Given the description of an element on the screen output the (x, y) to click on. 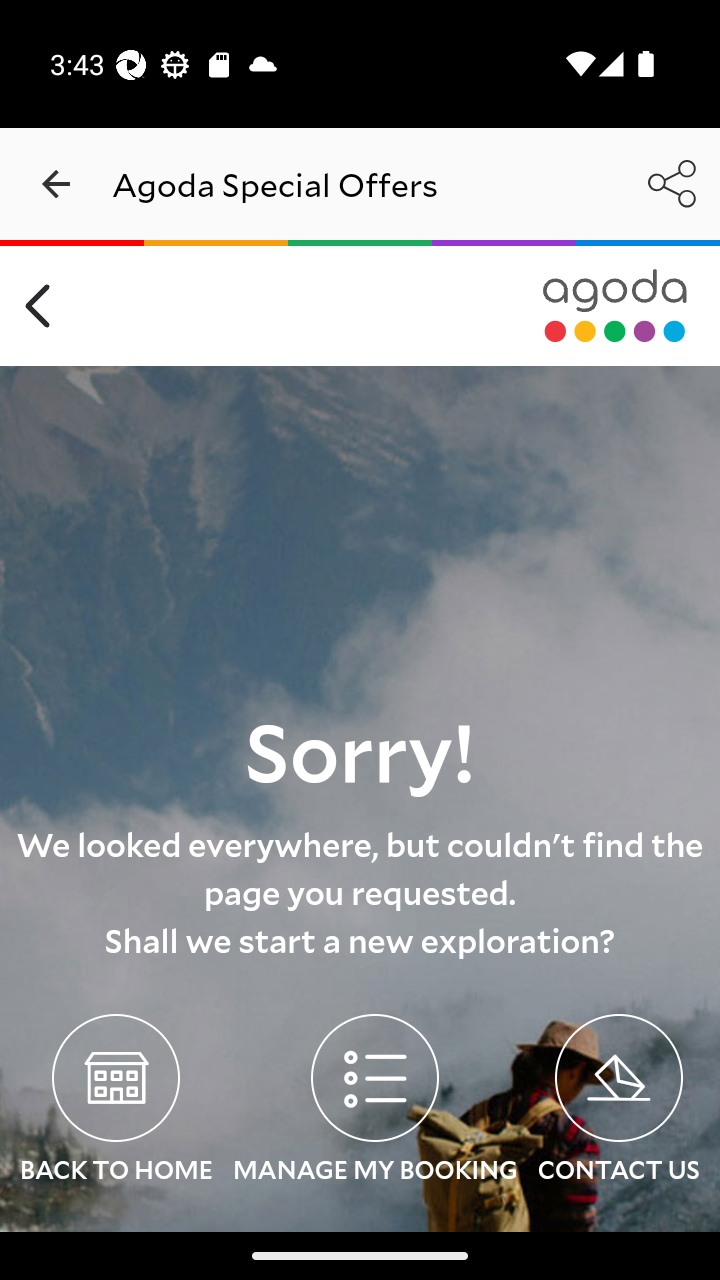
navigation_button (56, 184)
Share (672, 183)
color-default (615, 305)
 BACK TO HOME  BACK TO HOME (115, 1101)
 MANAGE MY BOOKING  MANAGE MY BOOKING (374, 1101)
 CONTACT US  CONTACT US (618, 1101)
